Given the description of an element on the screen output the (x, y) to click on. 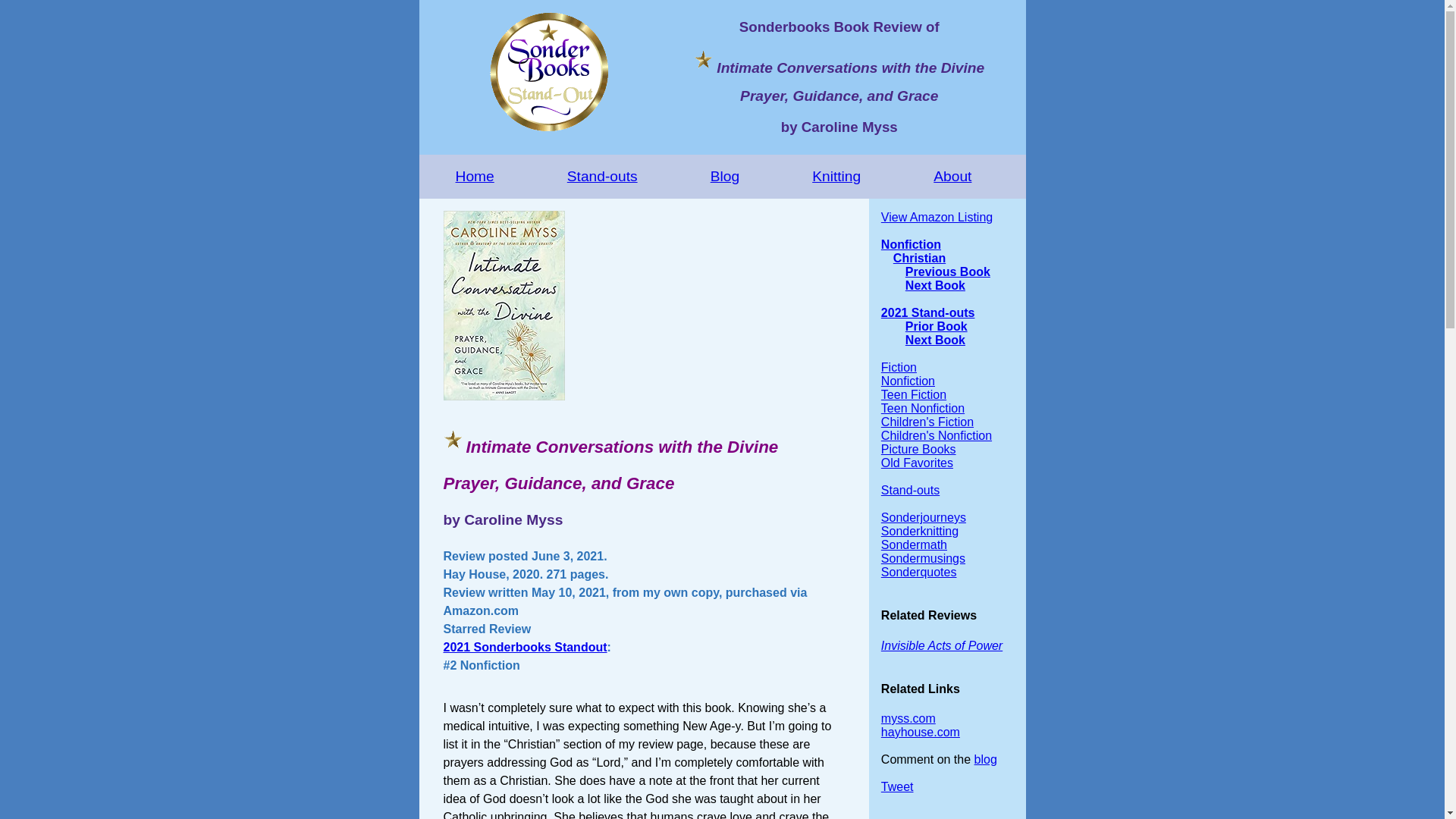
Tweet (897, 786)
Sondermusings (922, 558)
2021 Sonderbooks Standout (524, 646)
blog (985, 758)
myss.com (908, 717)
Nonfiction (910, 244)
Old Favorites (916, 462)
View Amazon Listing (936, 216)
Prior Book (936, 326)
Previous Book (947, 271)
Knitting (836, 176)
Next Book (935, 285)
About (952, 176)
Invisible Acts of Power (941, 645)
Stand-outs (909, 490)
